Given the description of an element on the screen output the (x, y) to click on. 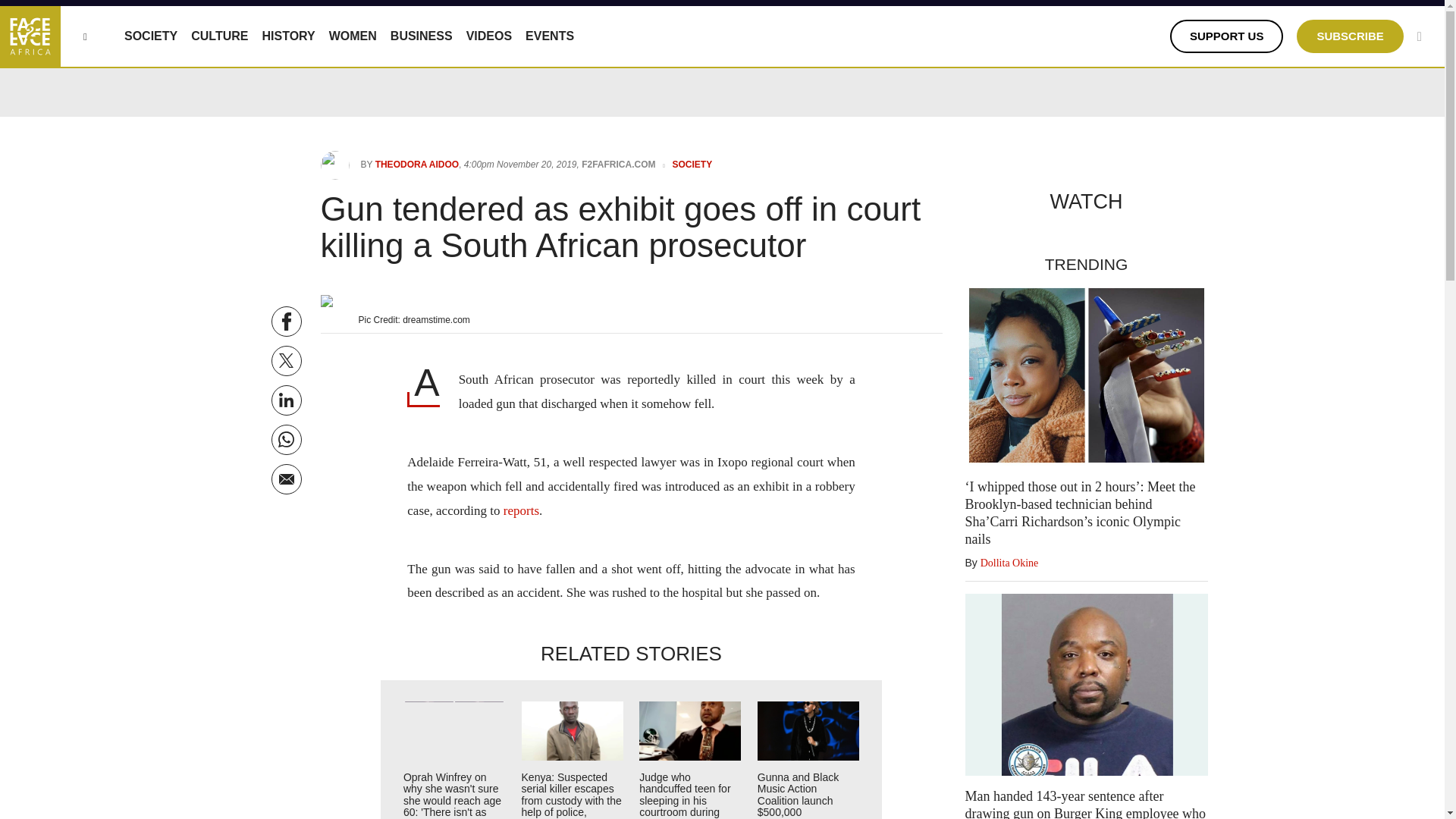
CULTURE (218, 35)
BUSINESS (421, 35)
VIDEOS (488, 35)
SUPPORT US (1227, 36)
EVENTS (549, 35)
WOMEN (353, 35)
HISTORY (288, 35)
SUBSCRIBE (1350, 36)
SOCIETY (150, 35)
